Given the description of an element on the screen output the (x, y) to click on. 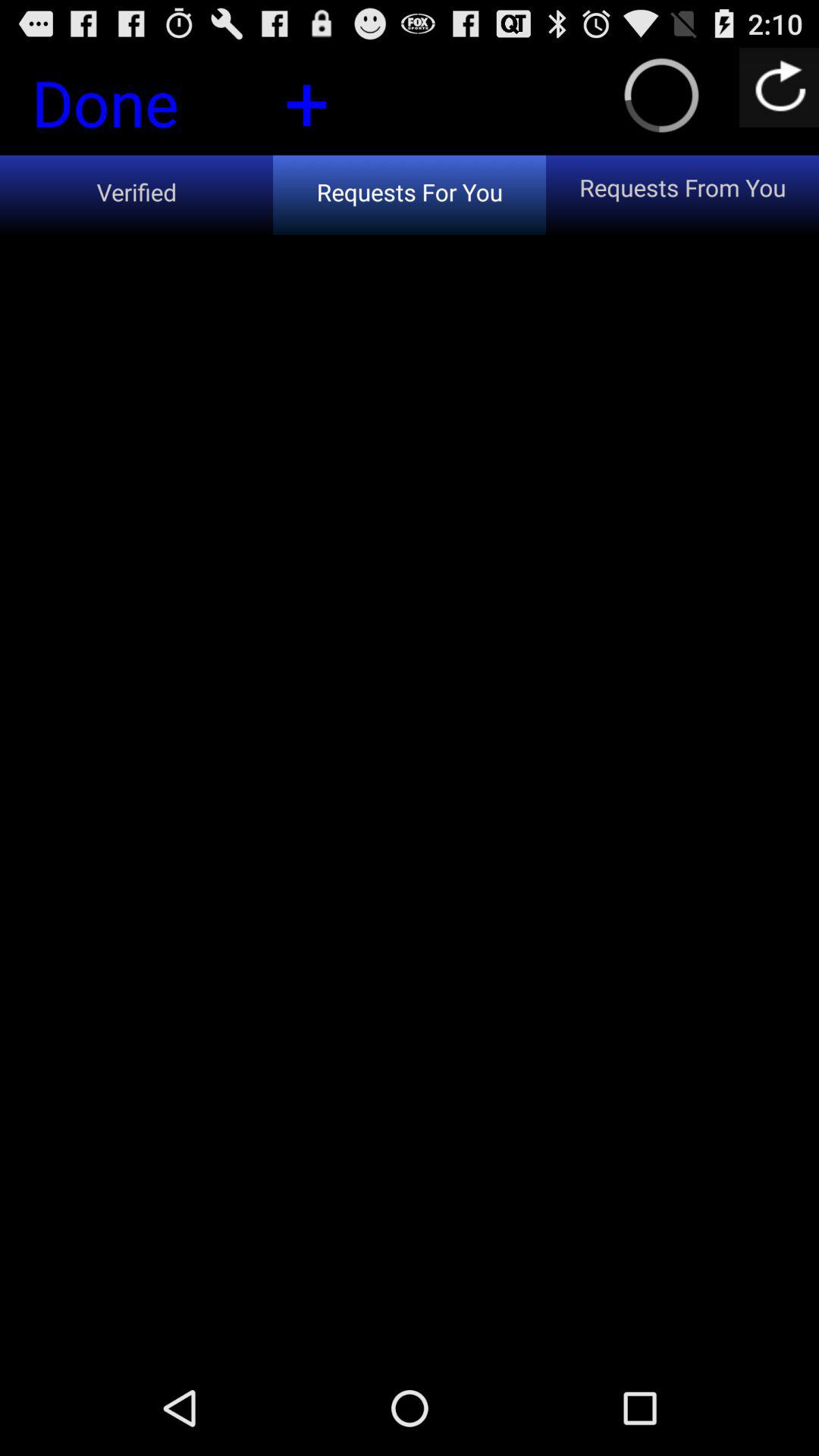
press icon to the right of the done (306, 100)
